Given the description of an element on the screen output the (x, y) to click on. 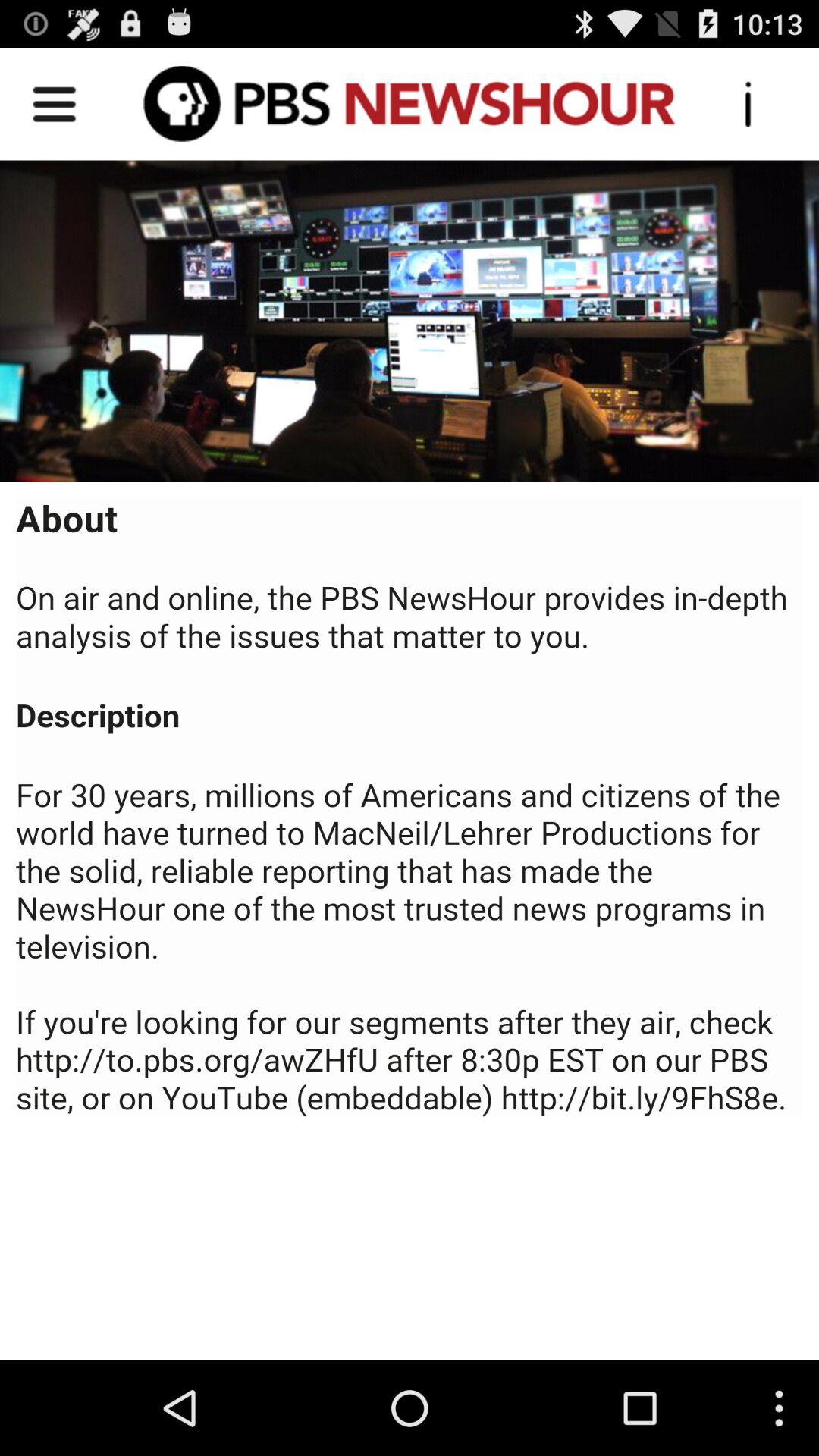
tap item at the top right corner (747, 103)
